Given the description of an element on the screen output the (x, y) to click on. 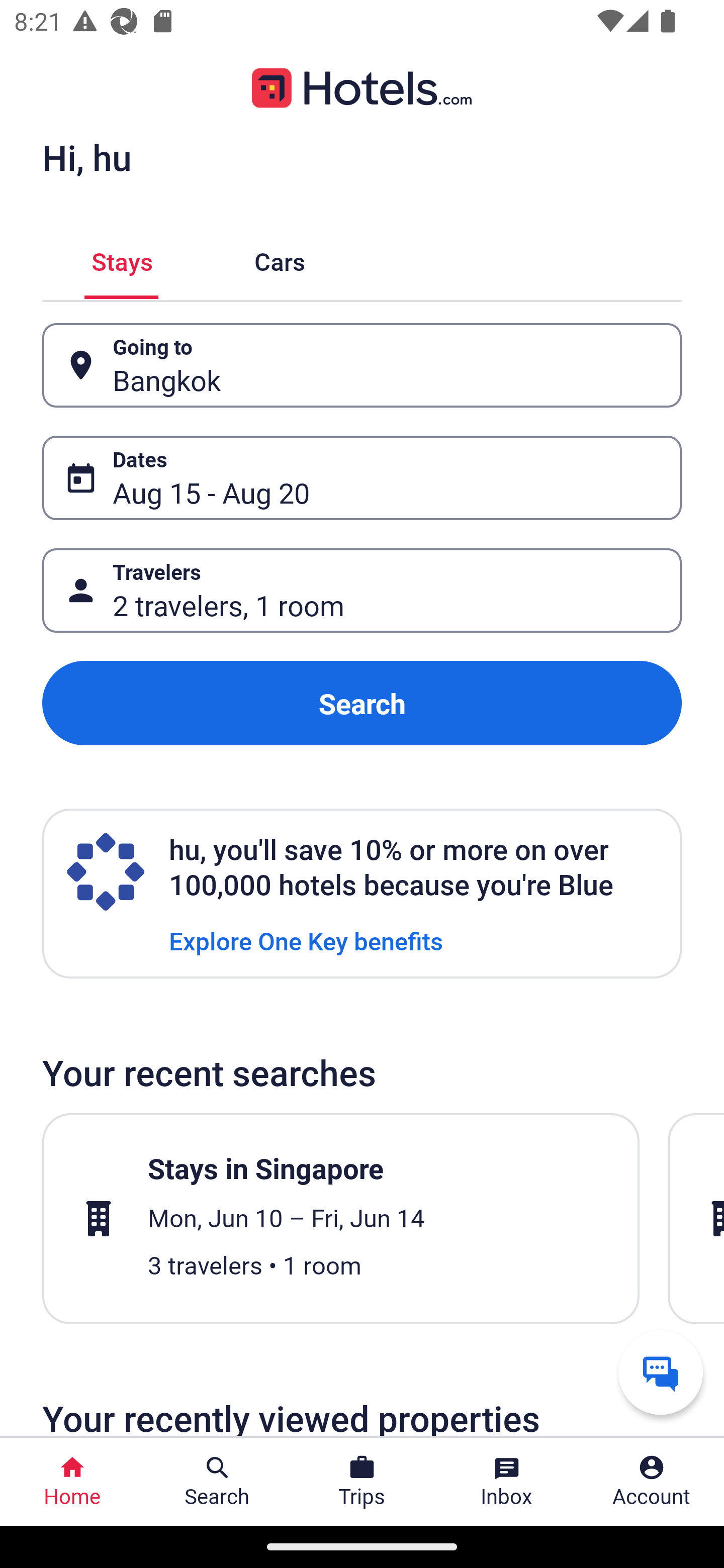
Hi, hu (86, 156)
Cars (279, 259)
Going to Button Bangkok (361, 365)
Dates Button Aug 15 - Aug 20 (361, 477)
Travelers Button 2 travelers, 1 room (361, 590)
Search (361, 702)
Get help from a virtual agent (660, 1371)
Search Search Button (216, 1481)
Trips Trips Button (361, 1481)
Inbox Inbox Button (506, 1481)
Account Profile. Button (651, 1481)
